Given the description of an element on the screen output the (x, y) to click on. 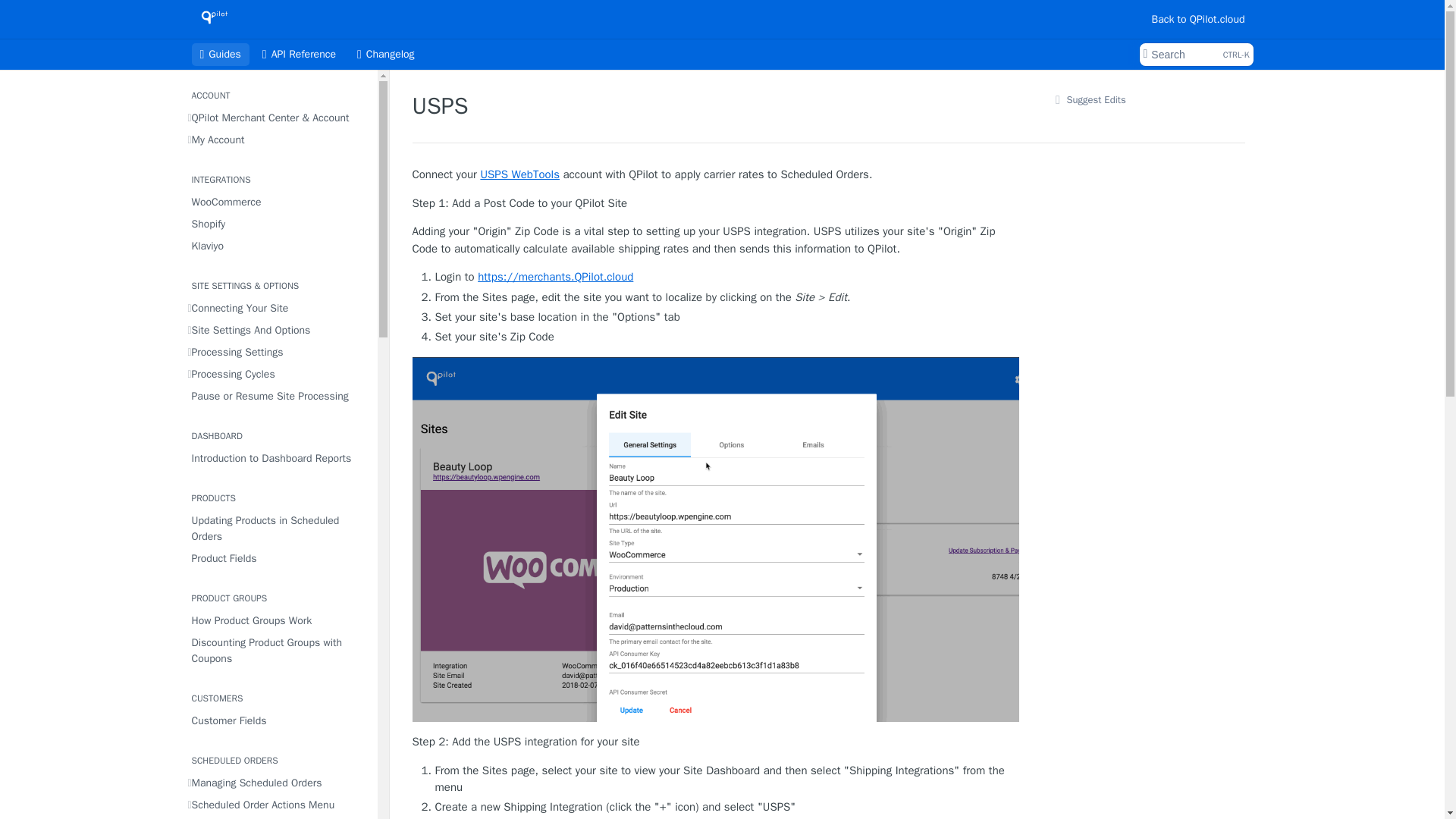
My Account (277, 139)
Guides (219, 54)
Connecting Your Site (1195, 54)
Shopify (277, 308)
Changelog (277, 223)
Back to QPilot.cloud (386, 54)
API Reference (1197, 18)
Site Settings And Options (298, 54)
Klaviyo (277, 330)
Processing Settings (277, 245)
WooCommerce (277, 352)
Processing Cycles (277, 201)
